Given the description of an element on the screen output the (x, y) to click on. 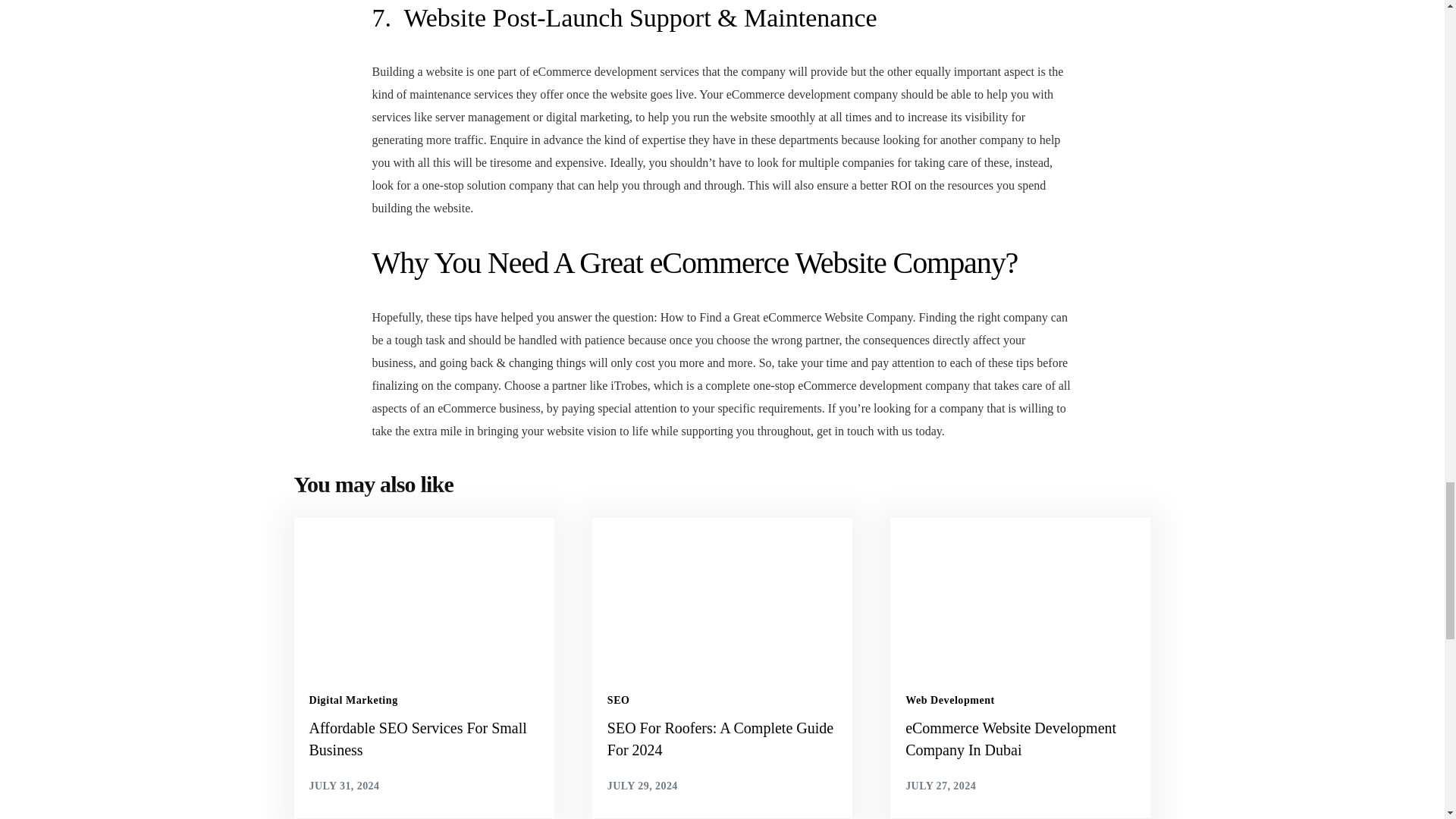
View Post: eCommerce Website Development Company In Dubai  (1020, 739)
View Post: Affordable SEO Services For Small Business (424, 591)
View Post: eCommerce Website Development Company In Dubai (1019, 591)
View Post: Affordable SEO Services For Small Business  (423, 739)
View SEO posts (618, 700)
View Post: SEO For Roofers: A Complete Guide For 2024  (722, 739)
View Post: SEO For Roofers: A Complete Guide For 2024 (721, 591)
View Digital Marketing posts (352, 700)
View Web Development posts (949, 700)
